Given the description of an element on the screen output the (x, y) to click on. 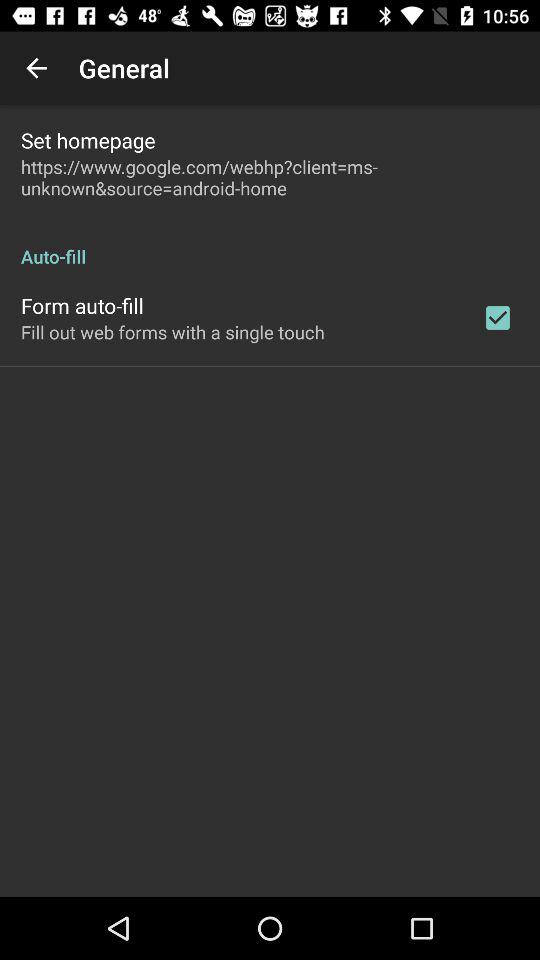
press fill out web app (172, 331)
